Given the description of an element on the screen output the (x, y) to click on. 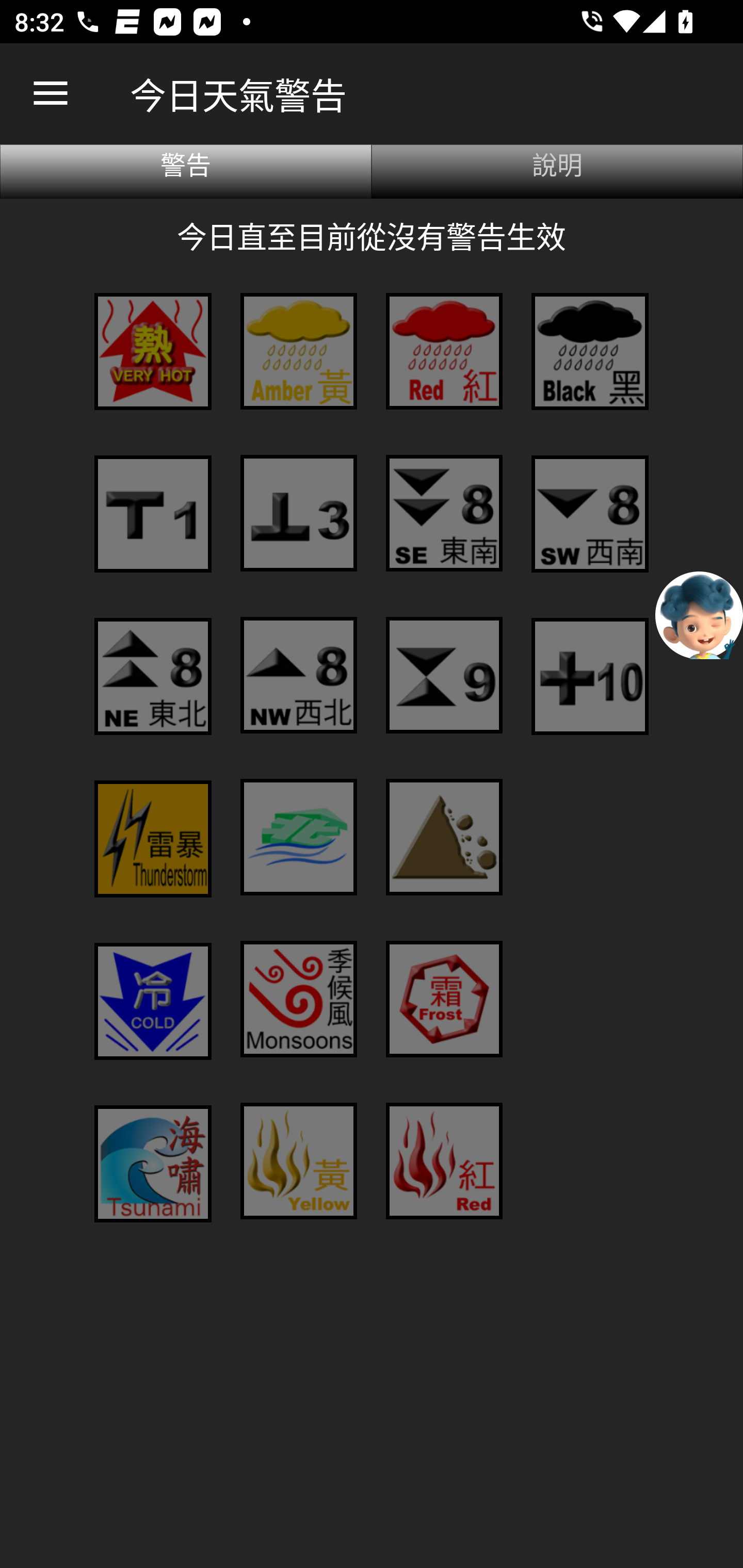
向上瀏覽 (50, 93)
警告 (185, 171)
說明 (557, 171)
酷熱天氣警告 (153, 351)
黄色暴雨警告 (298, 351)
紅色暴雨警告 (444, 351)
黑色暴雨警告 (589, 351)
三號強風信號 (298, 512)
八號東南烈風或暴風信號 (444, 512)
一號戒備信號 (153, 514)
八號西南烈風或暴風信號 (589, 514)
聊天機械人 (699, 614)
八號西北烈風或暴風信號 (298, 674)
九號烈風或暴風風力增強信號 (444, 674)
八號東北烈風或暴風信號 (153, 675)
十號颶風信號 (589, 675)
新界北部水浸特別報告 (298, 837)
山泥傾瀉警告 (444, 837)
雷暴警告 (153, 838)
強烈季候風信號 (298, 998)
霜凍警告 (444, 998)
寒冷天氣警告 (153, 1001)
黄色火災危險警告 (298, 1161)
紅色火災危險警告 (444, 1161)
海嘯警告 (153, 1163)
